Given the description of an element on the screen output the (x, y) to click on. 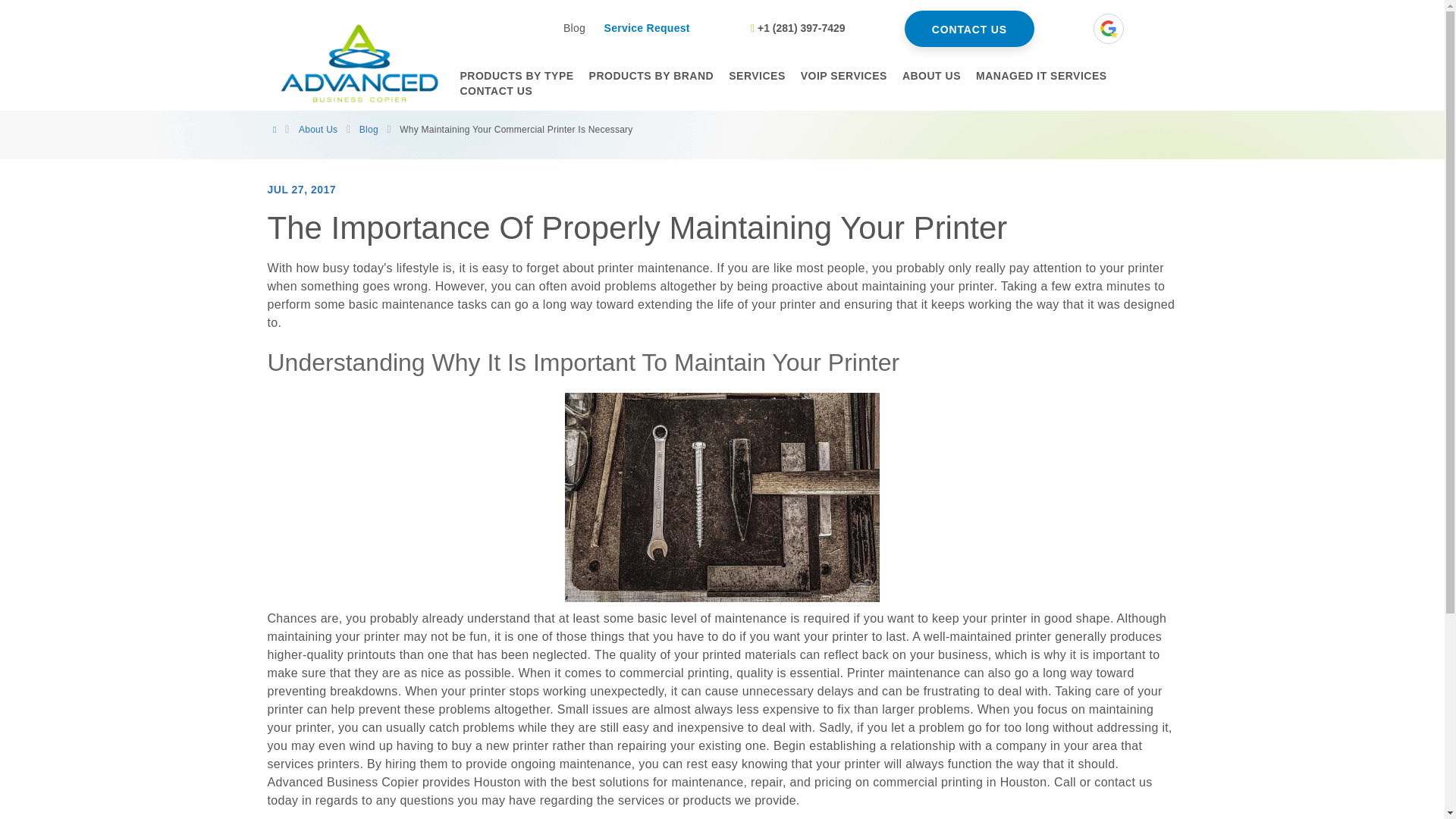
Service Request (647, 28)
Blog (574, 28)
PRODUCTS BY BRAND (651, 76)
CONTACT US (968, 28)
PRODUCTS BY TYPE (515, 76)
Home - Advanced Business Copier (357, 62)
